Given the description of an element on the screen output the (x, y) to click on. 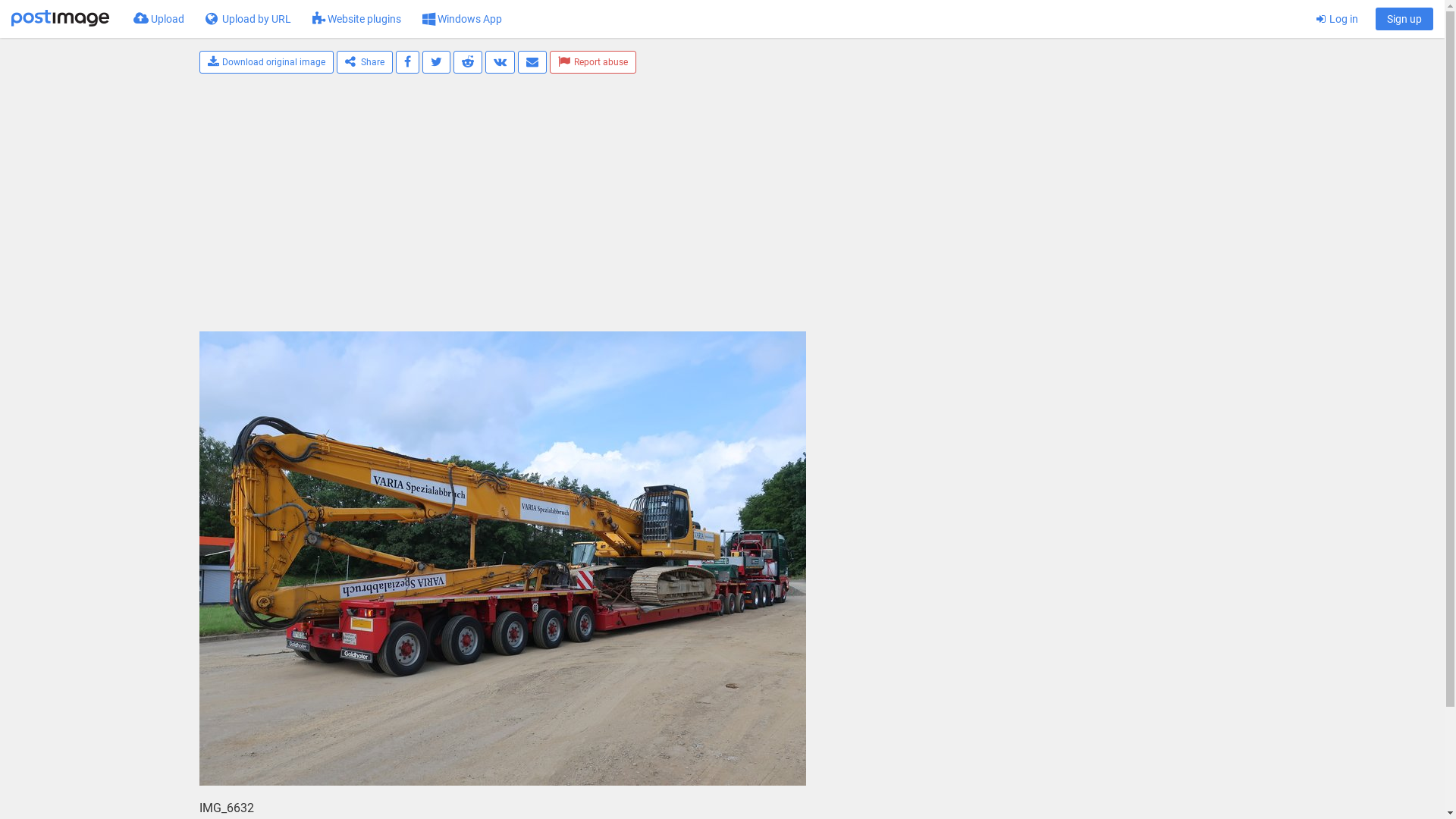
Log in Element type: text (1336, 18)
Windows App Element type: text (461, 18)
Sign up Element type: text (1404, 18)
Advertisement Element type: hover (1169, 315)
Download original image Element type: text (265, 61)
Upload Element type: text (158, 18)
Advertisement Element type: hover (639, 209)
Upload by URL Element type: text (247, 18)
Website plugins Element type: text (356, 18)
